Given the description of an element on the screen output the (x, y) to click on. 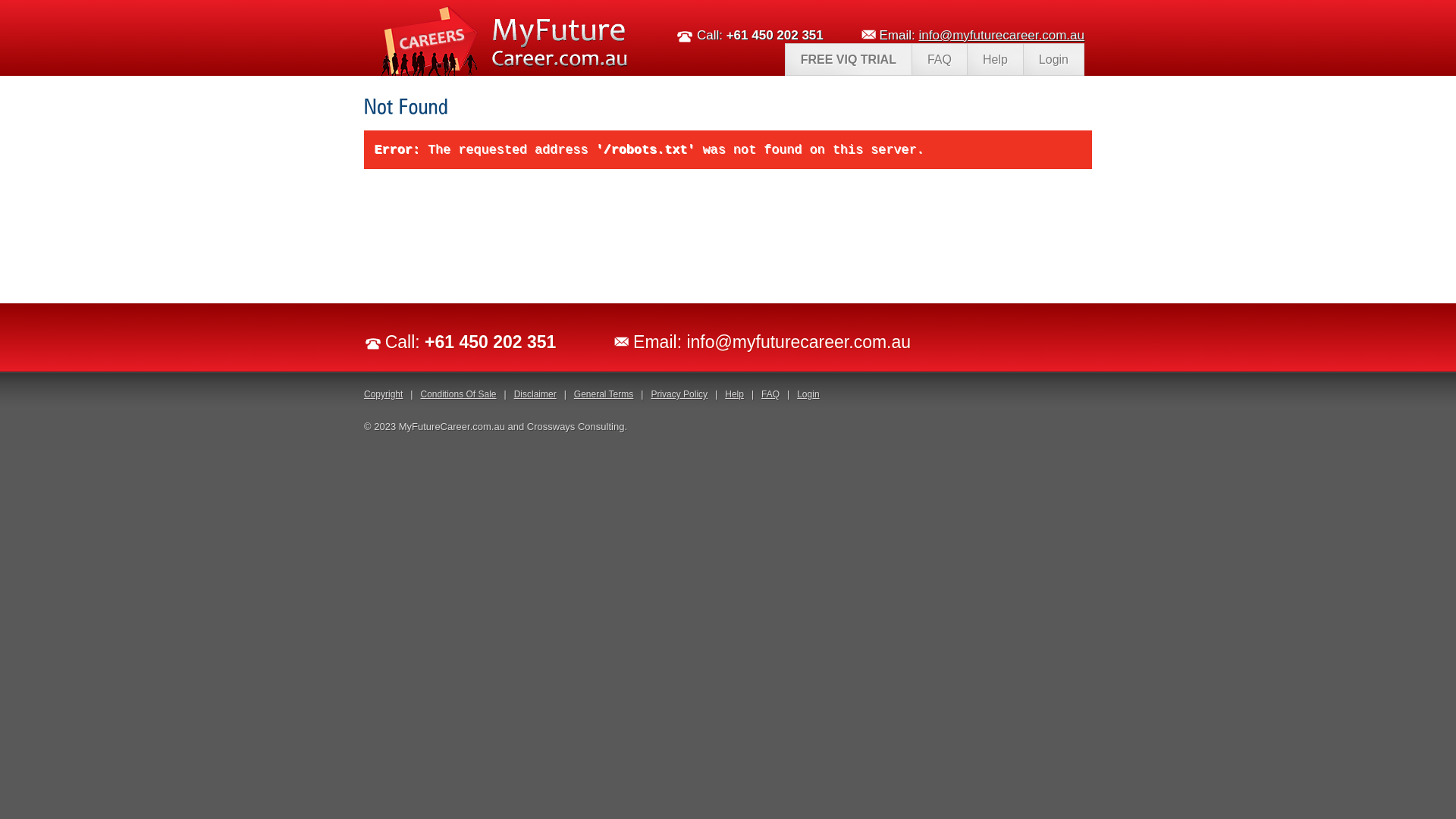
Conditions Of Sale Element type: text (457, 394)
info@myfuturecareer.com.au Element type: text (798, 341)
FAQ Element type: text (770, 394)
Privacy Policy Element type: text (678, 394)
FREE VIQ TRIAL Element type: text (847, 59)
Copyright Element type: text (383, 394)
Help Element type: text (994, 59)
Login Element type: text (808, 394)
Disclaimer Element type: text (535, 394)
FAQ Element type: text (938, 59)
info@myfuturecareer.com.au Element type: text (1001, 35)
Login Element type: text (1052, 59)
Help Element type: text (733, 394)
General Terms Element type: text (603, 394)
